Given the description of an element on the screen output the (x, y) to click on. 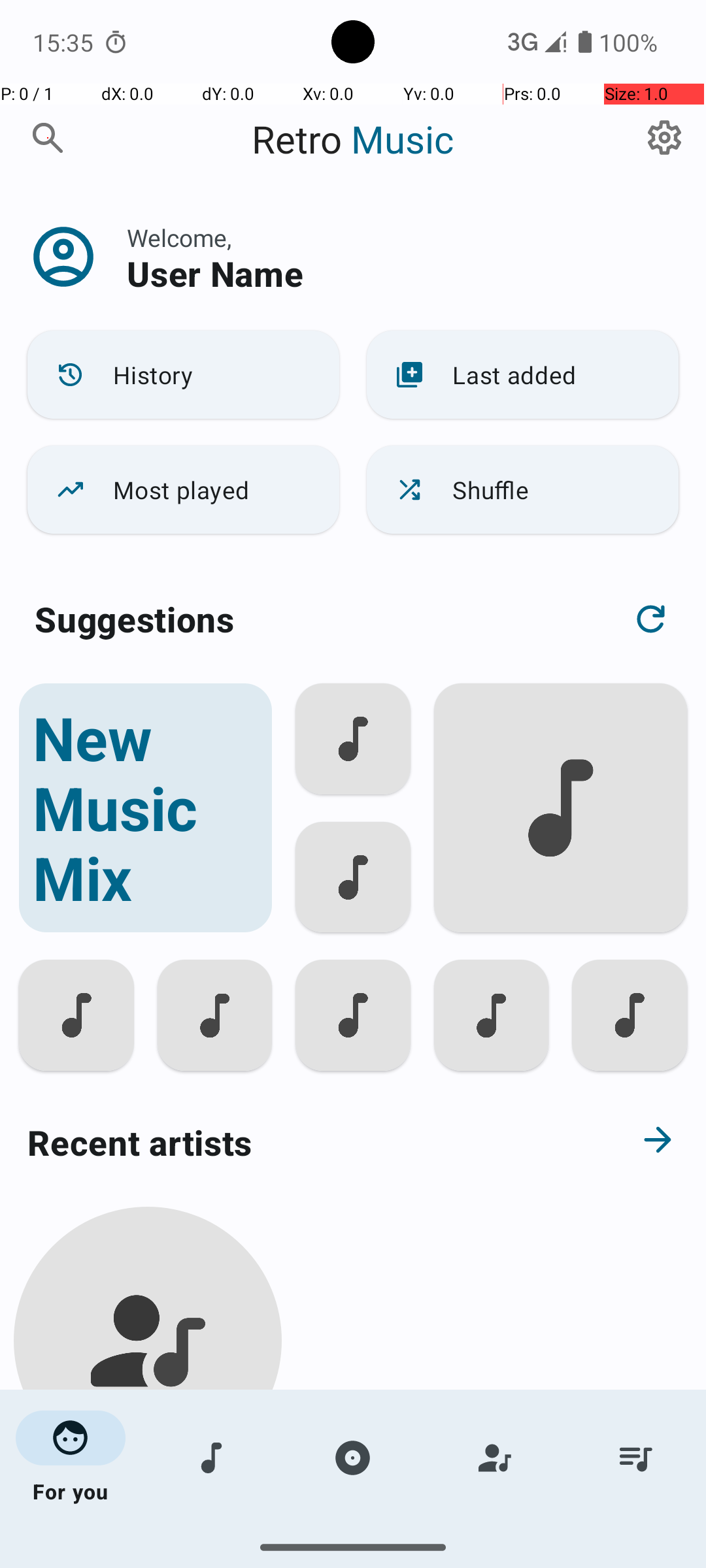
Ana Element type: android.widget.TextView (147, 1503)
